Given the description of an element on the screen output the (x, y) to click on. 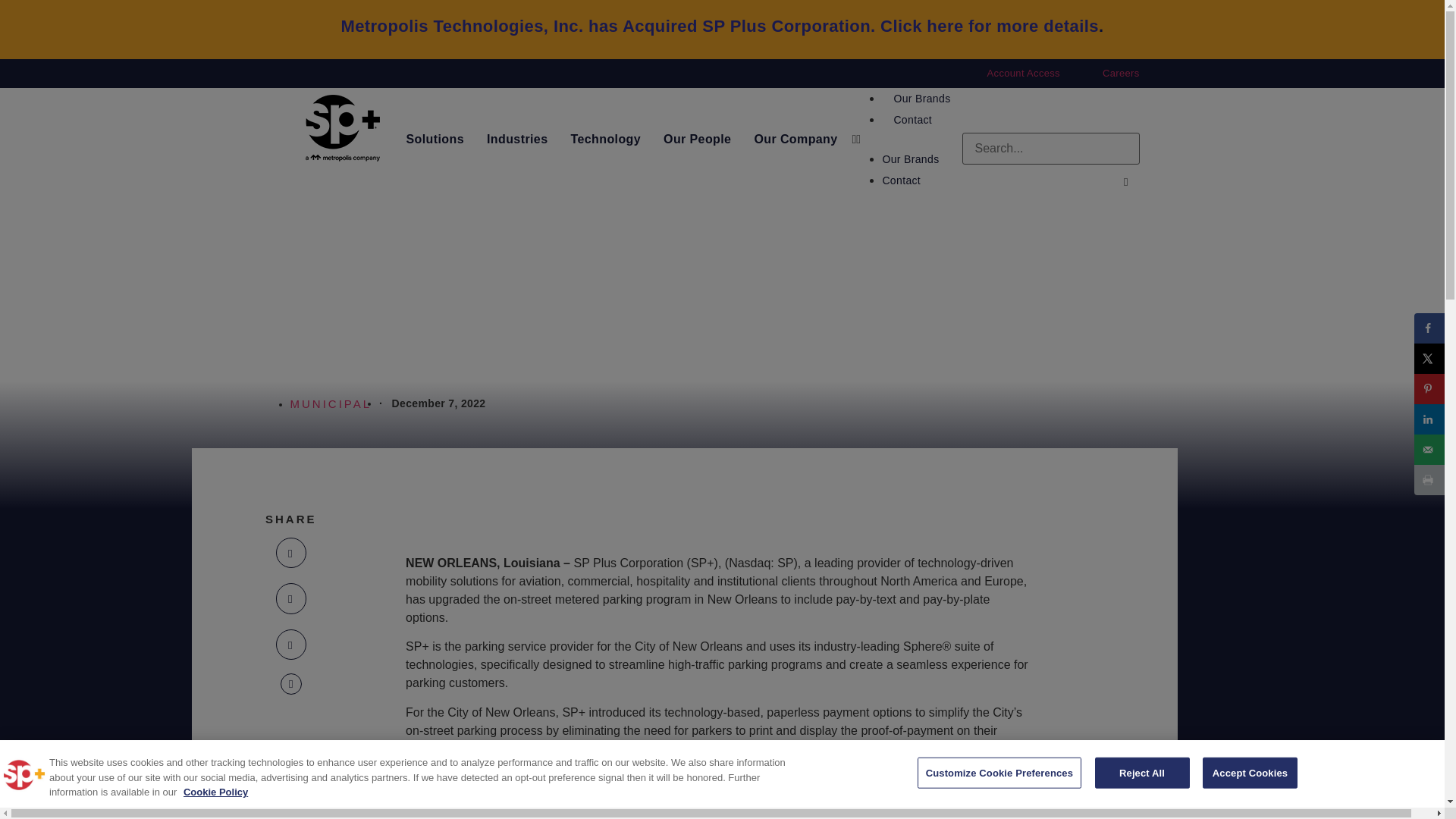
Careers (1121, 72)
Company Logo (24, 774)
Share on Facebook (1428, 327)
Account Access (1023, 72)
Save to Pinterest (1428, 388)
Share on LinkedIn (1428, 418)
Click here for more details (989, 26)
Our Company (795, 138)
Technology (605, 138)
Print this webpage (1428, 479)
Share on X (1428, 358)
Send over email (1428, 449)
